Given the description of an element on the screen output the (x, y) to click on. 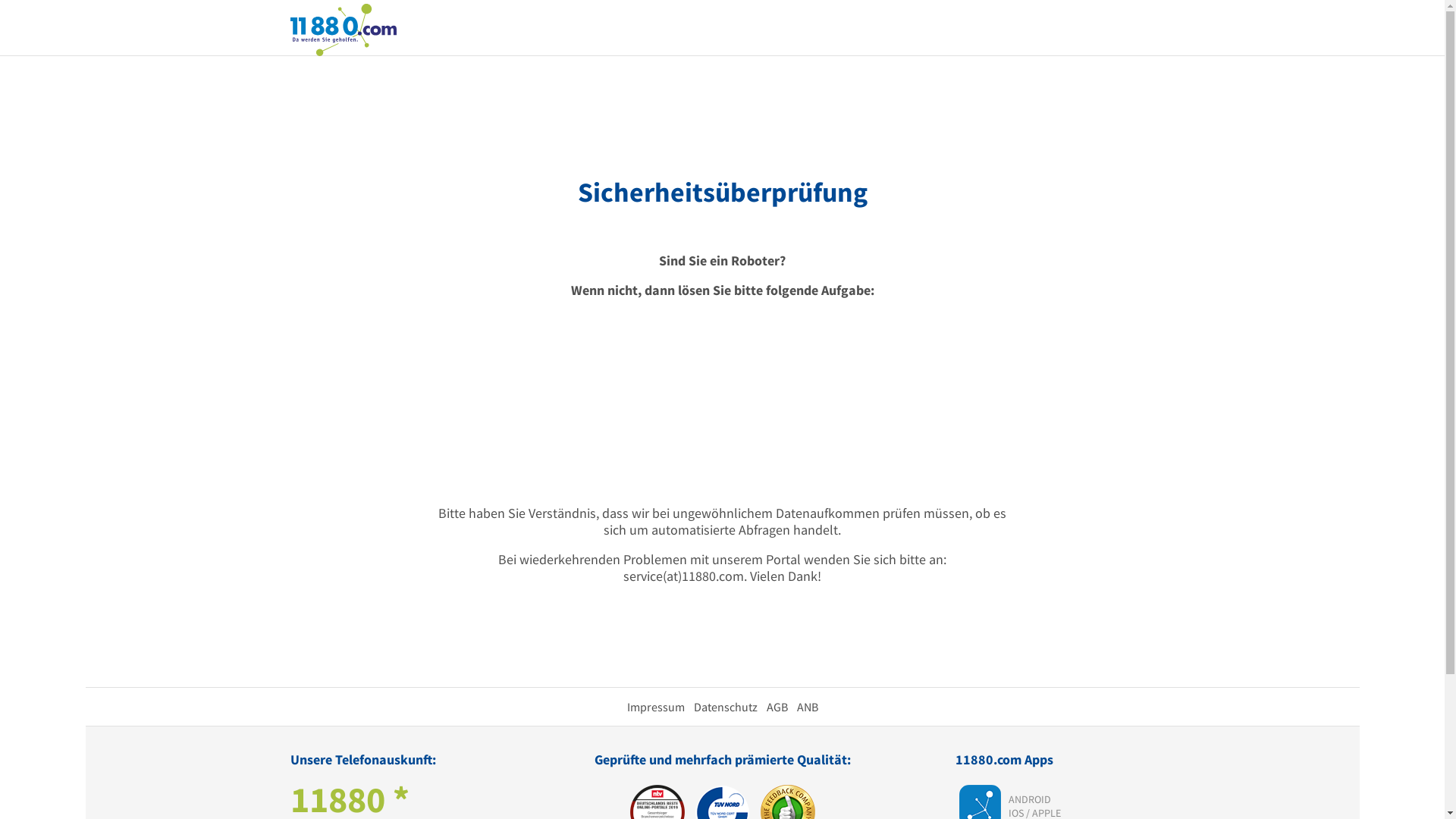
AGB Element type: text (776, 706)
ANB Element type: text (806, 706)
Datenschutz Element type: text (724, 706)
11880.com Element type: hover (342, 28)
Impressum Element type: text (655, 706)
